Given the description of an element on the screen output the (x, y) to click on. 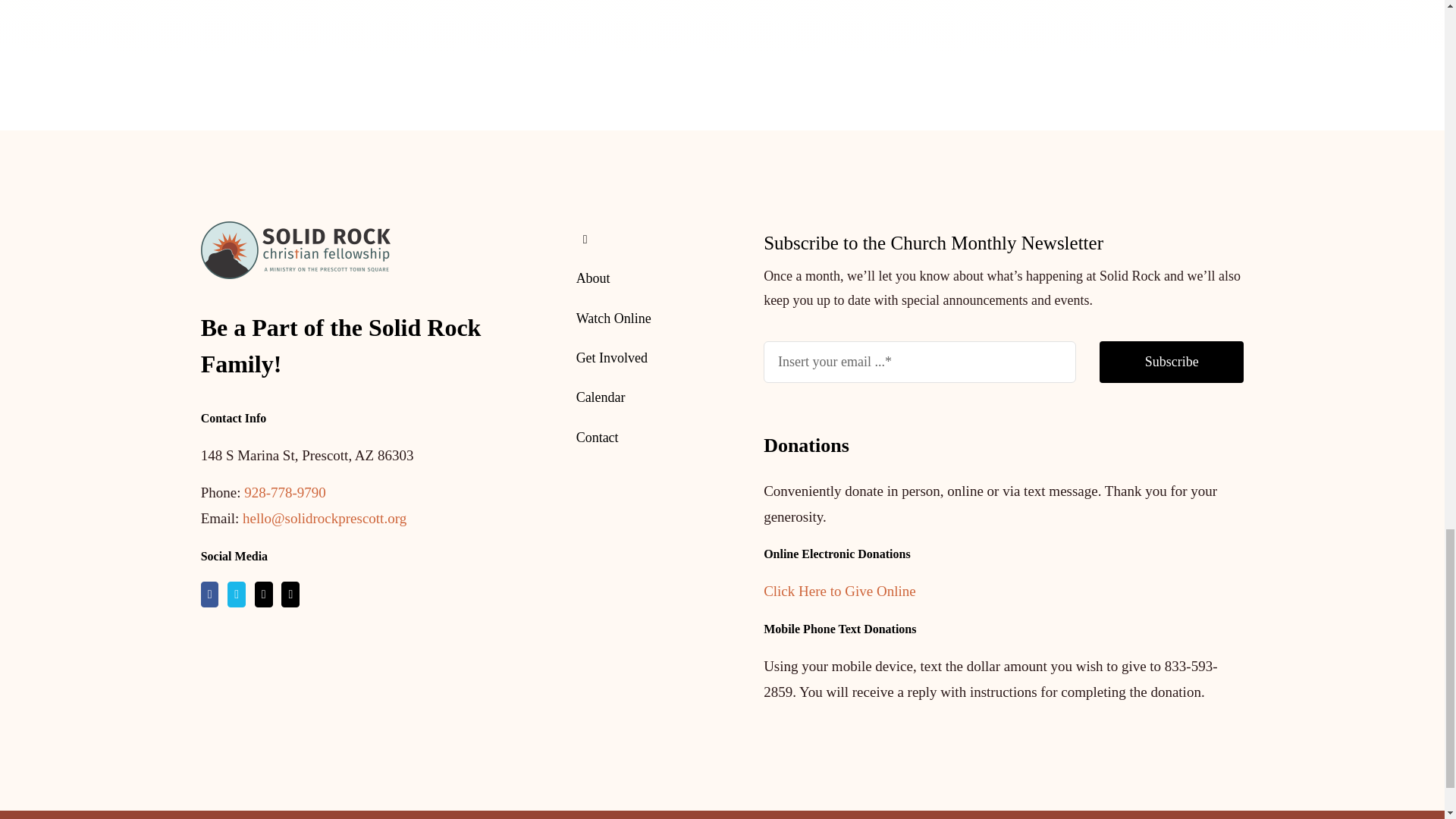
Subscribe (1002, 369)
SRCF Logo 1 250 px (295, 250)
